Given the description of an element on the screen output the (x, y) to click on. 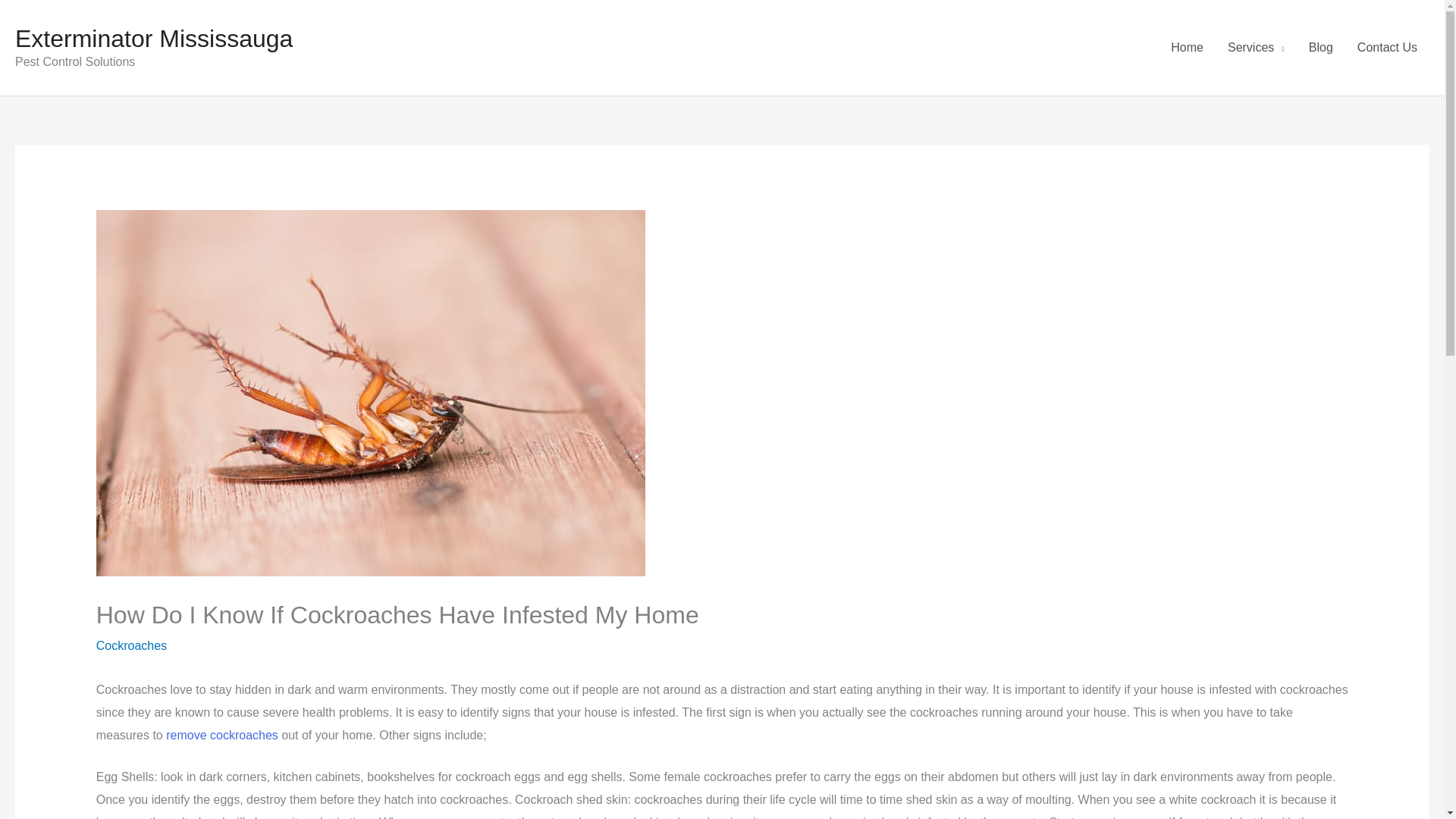
Exterminator Mississauga (153, 38)
remove cockroaches (221, 735)
Blog (1321, 47)
Contact Us (1387, 47)
Services (1256, 47)
Home (1186, 47)
Cockroaches (131, 645)
